Given the description of an element on the screen output the (x, y) to click on. 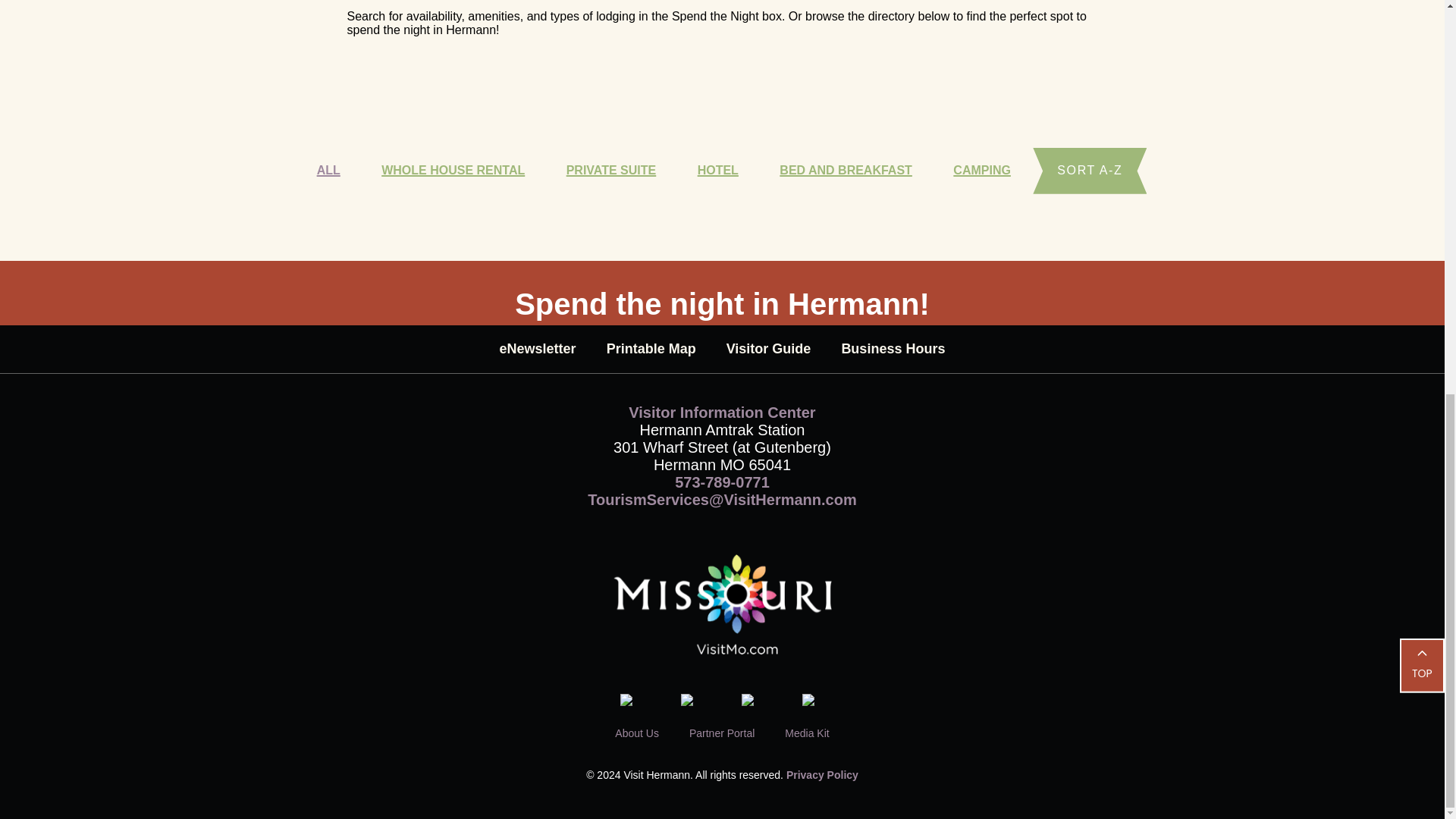
ALL (328, 170)
HOTEL (717, 170)
About Us (636, 733)
Visitor Guide (768, 348)
Printable Map (651, 348)
BED AND BREAKFAST (845, 170)
Business Hours (892, 348)
eNewsletter (537, 348)
PRIVATE SUITE (611, 170)
SORT A-Z (1089, 171)
WHOLE HOUSE RENTAL (452, 170)
Partner Portal (721, 733)
CAMPING (981, 170)
573-789-0771 (722, 482)
Media Kit (806, 733)
